Given the description of an element on the screen output the (x, y) to click on. 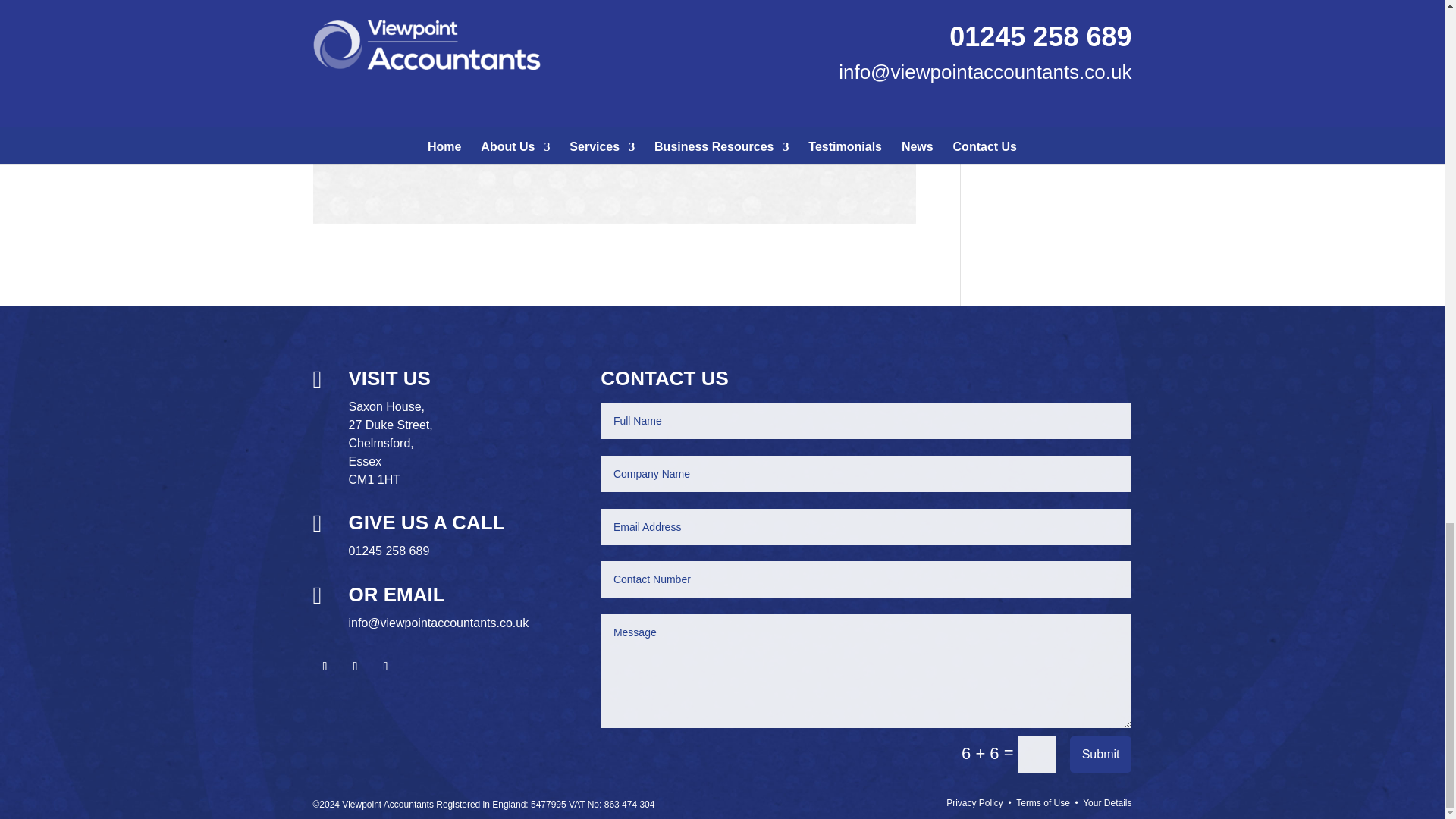
Follow on Twitter (354, 666)
Follow on Facebook (324, 666)
Follow on LinkedIn (384, 666)
